Given the description of an element on the screen output the (x, y) to click on. 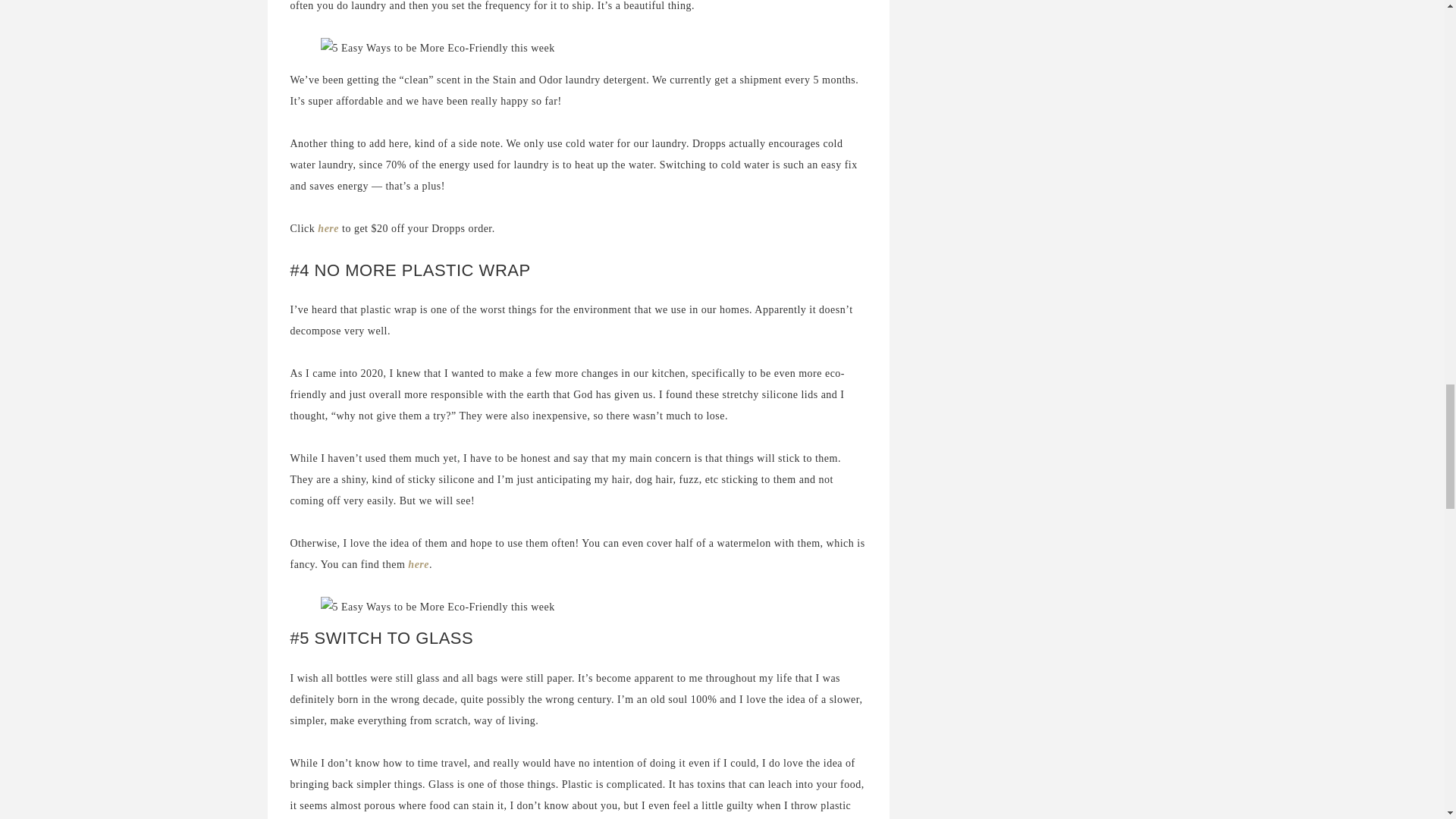
here (328, 228)
here (418, 564)
